Given the description of an element on the screen output the (x, y) to click on. 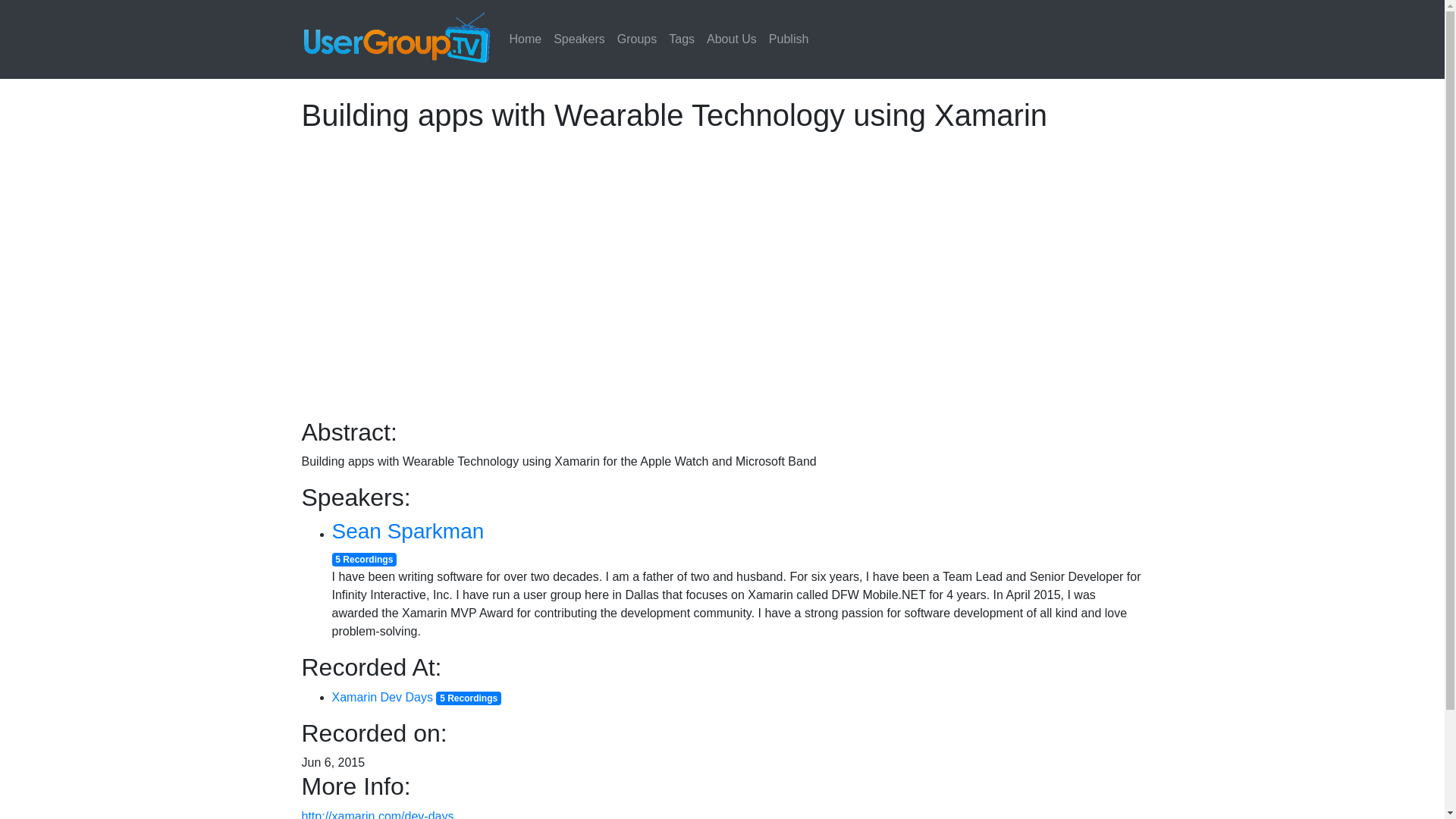
Sean Sparkman (407, 530)
Xamarin Dev Days (381, 697)
Home (525, 39)
Speakers (579, 39)
Groups (636, 39)
Publish (787, 39)
Tags (681, 39)
About Us (731, 39)
